Given the description of an element on the screen output the (x, y) to click on. 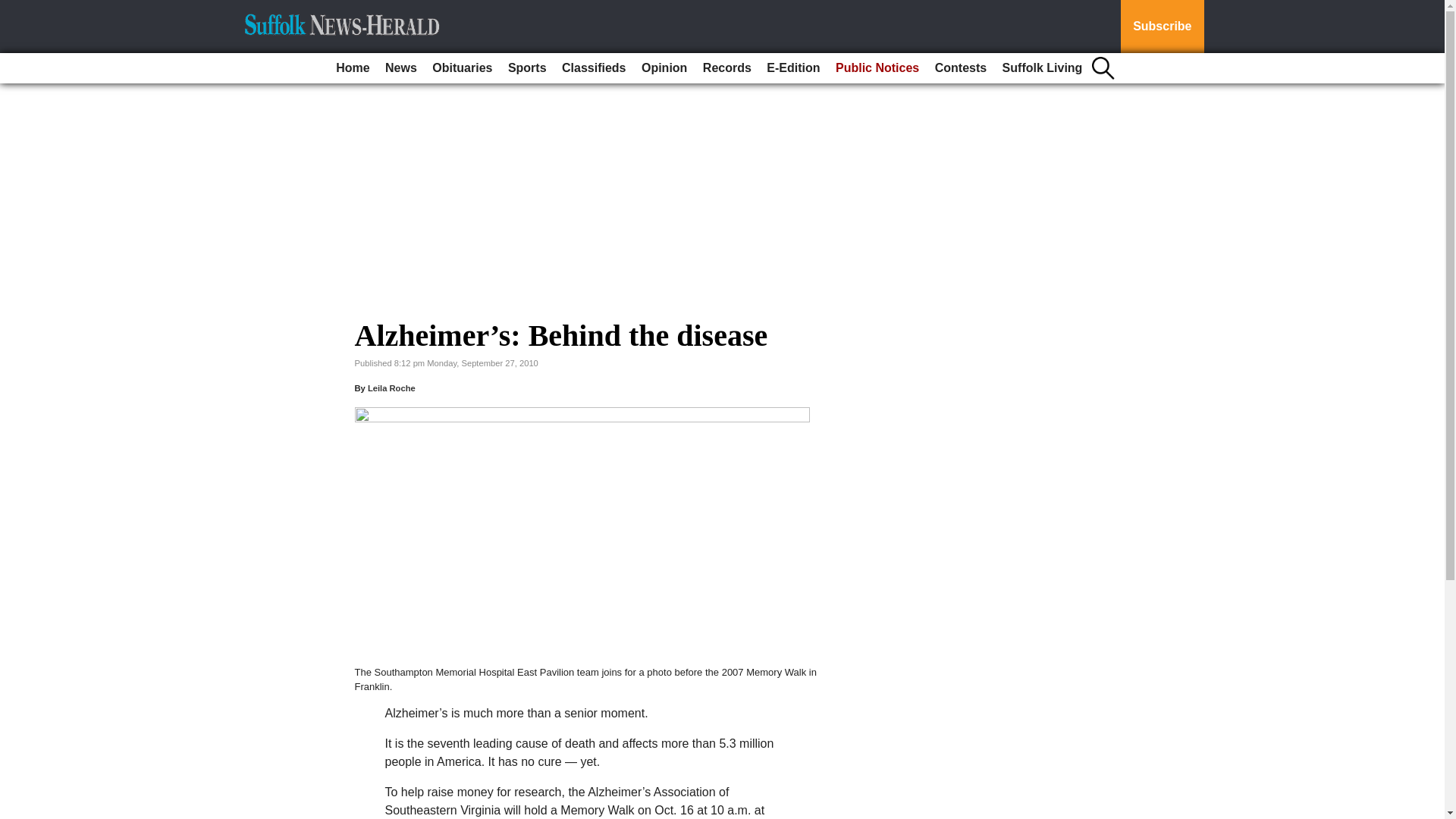
Classifieds (593, 68)
Home (352, 68)
E-Edition (792, 68)
Public Notices (876, 68)
Suffolk Living (1042, 68)
News (400, 68)
Leila Roche (391, 388)
Records (727, 68)
Obituaries (461, 68)
Contests (960, 68)
